Given the description of an element on the screen output the (x, y) to click on. 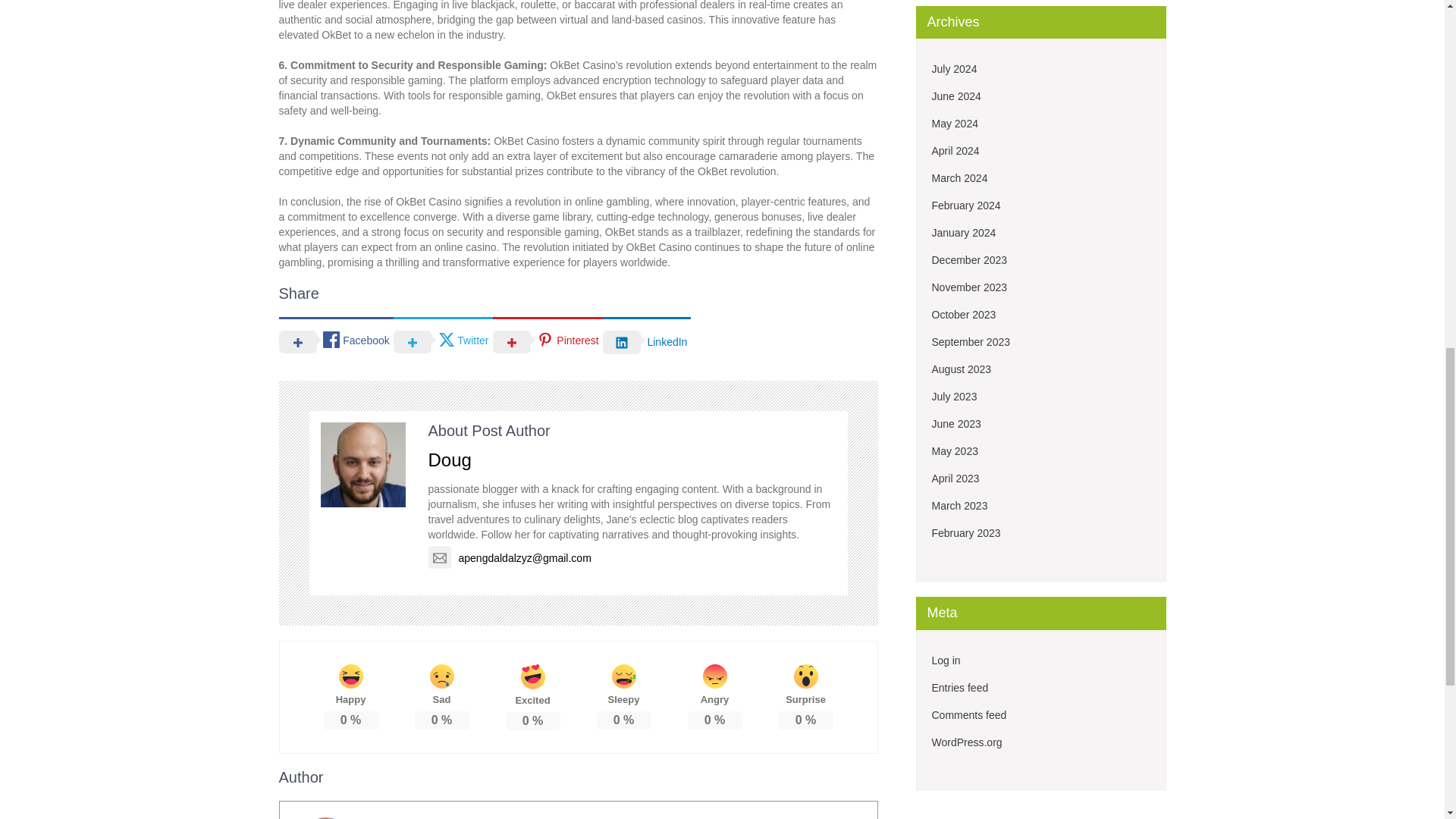
Pinterest (547, 340)
Facebook (336, 340)
Doug (393, 818)
Doug (449, 459)
LinkedIn (646, 340)
Doug (393, 818)
Twitter (443, 340)
